Given the description of an element on the screen output the (x, y) to click on. 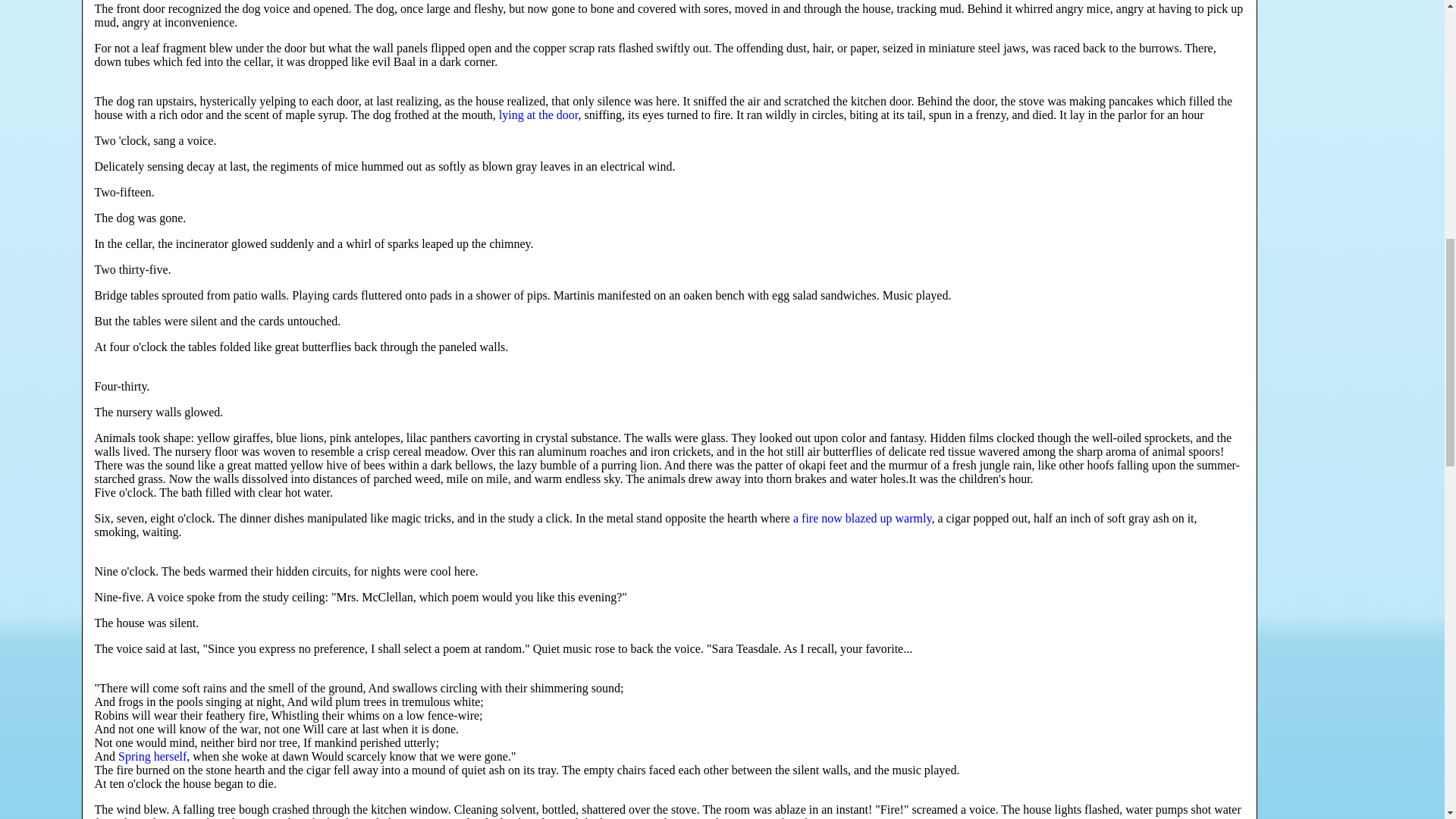
lying at the door (538, 114)
Spring herself (151, 756)
a fire now blazed up warmly (862, 517)
